Given the description of an element on the screen output the (x, y) to click on. 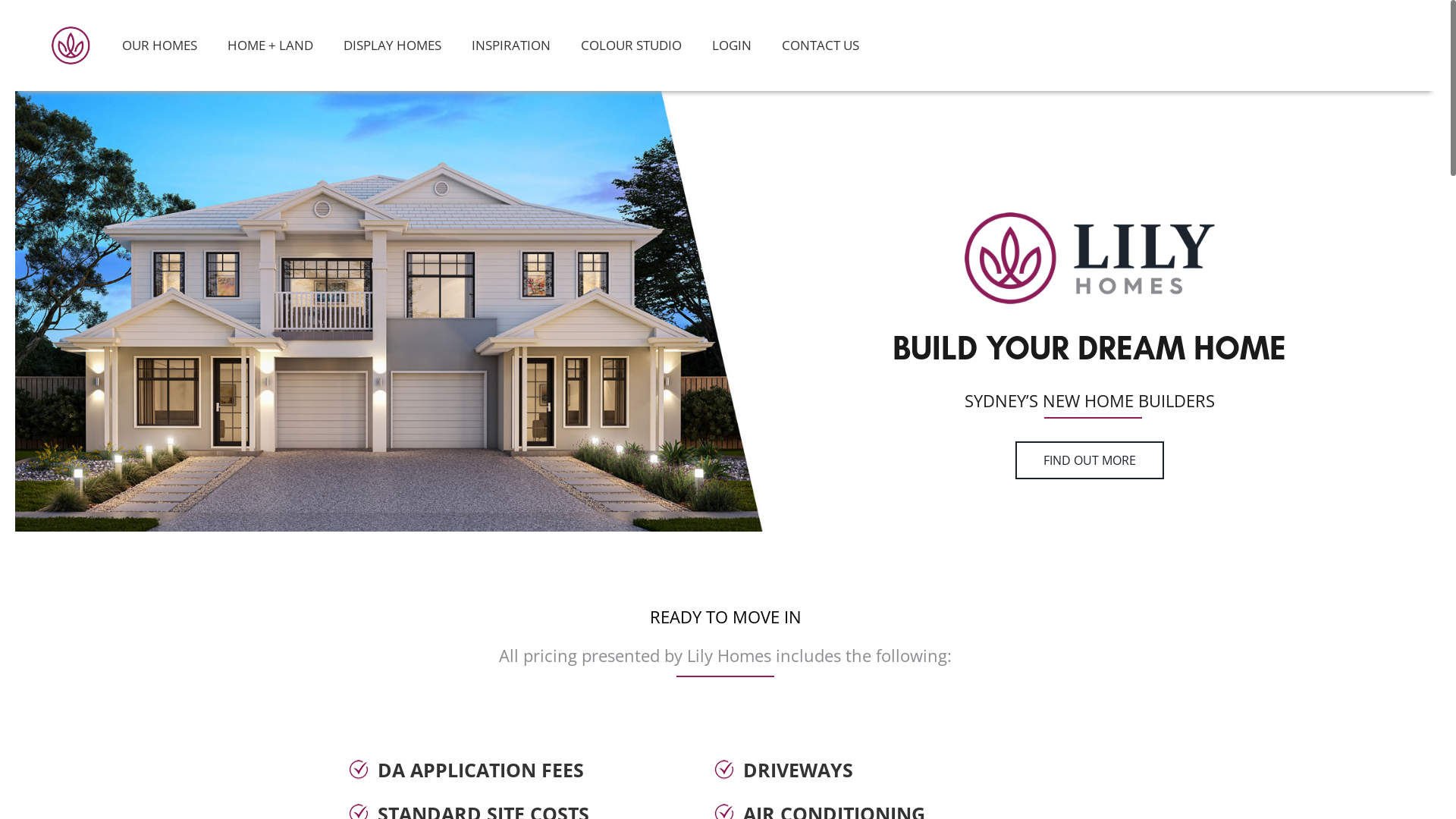
COLOUR STUDIO Element type: text (630, 45)
CONTACT US Element type: text (820, 45)
DISPLAY HOMES Element type: text (392, 45)
INSPIRATION Element type: text (510, 45)
LOGIN Element type: text (731, 45)
FIND OUT MORE Element type: text (1089, 460)
OUR HOMES Element type: text (159, 45)
HOME + LAND Element type: text (270, 45)
